Given the description of an element on the screen output the (x, y) to click on. 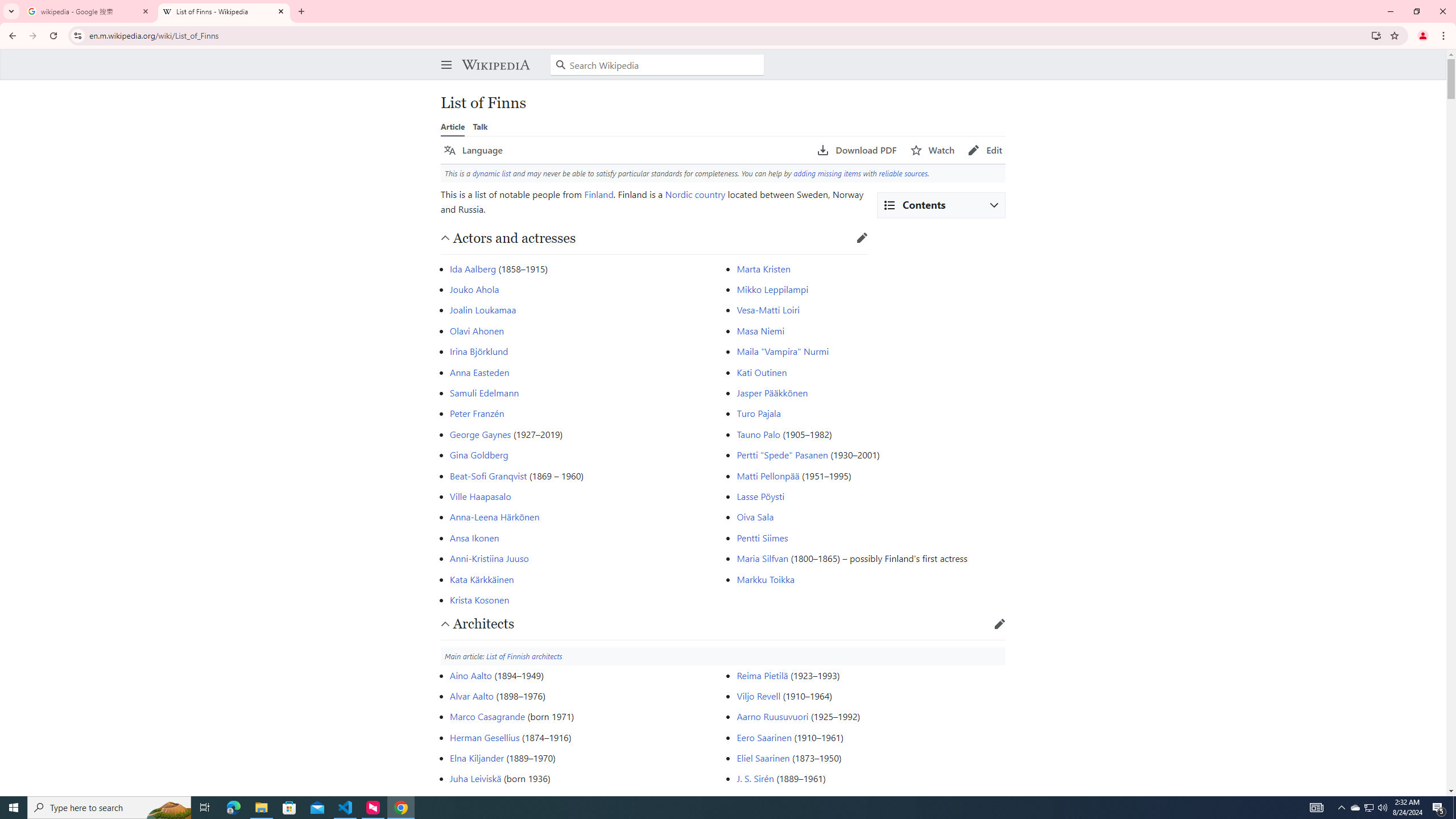
Lars Sonck (758, 798)
AutomationID: language-selector (623, 150)
Finland (597, 193)
Herman Gesellius (484, 736)
Edit (984, 149)
Marco Casagrande (487, 716)
Article (452, 126)
Jouko Ahola (474, 289)
